Given the description of an element on the screen output the (x, y) to click on. 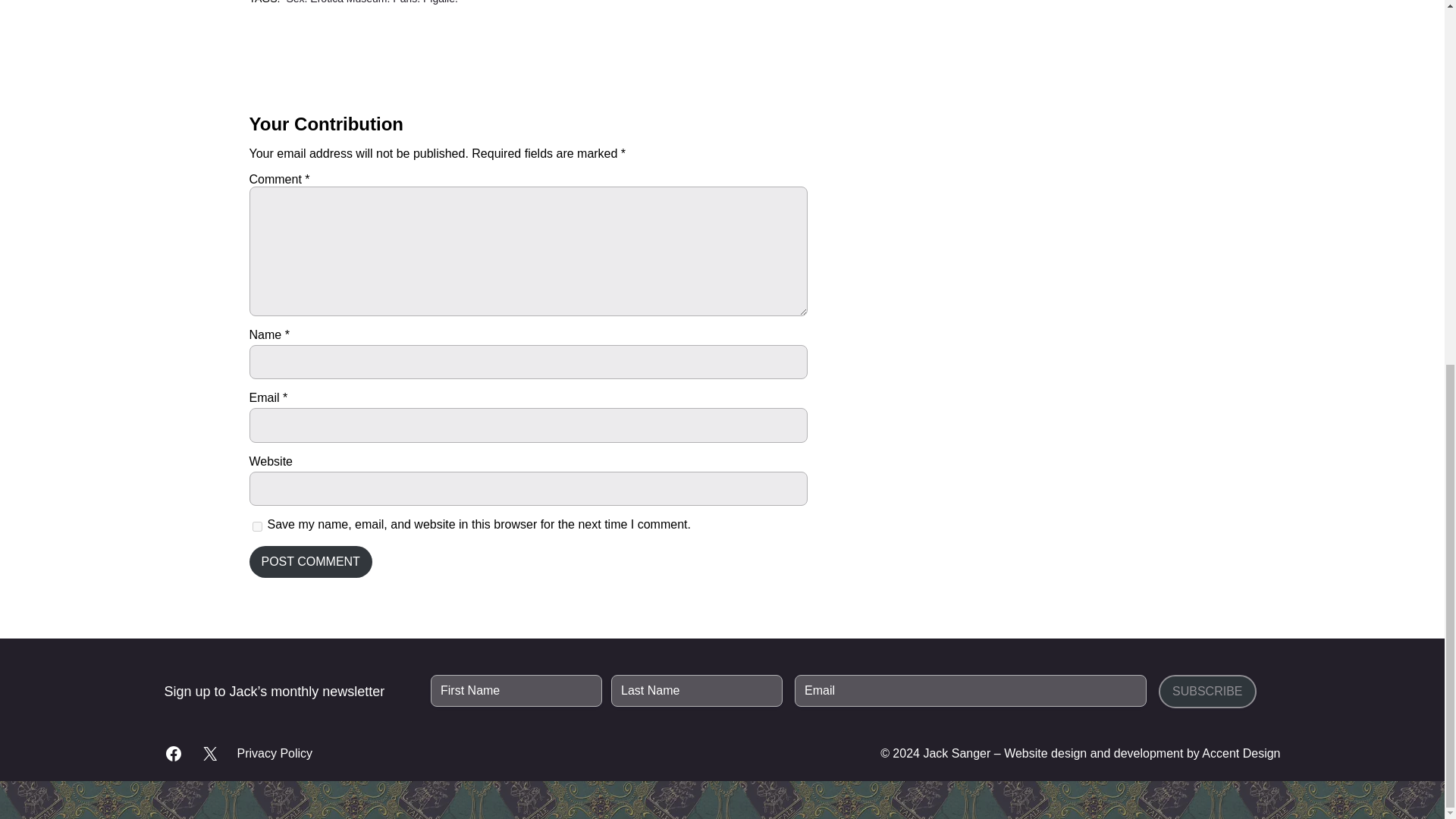
Website design and development by Accent Design (1141, 753)
SUBSCRIBE (1206, 691)
Sex. Erotica Museum. Paris. Pigalle. (371, 2)
Post Comment (309, 562)
X (209, 753)
Post Comment (309, 562)
Facebook (172, 753)
Privacy Policy (274, 753)
SUBSCRIBE (1206, 691)
yes (256, 526)
